Given the description of an element on the screen output the (x, y) to click on. 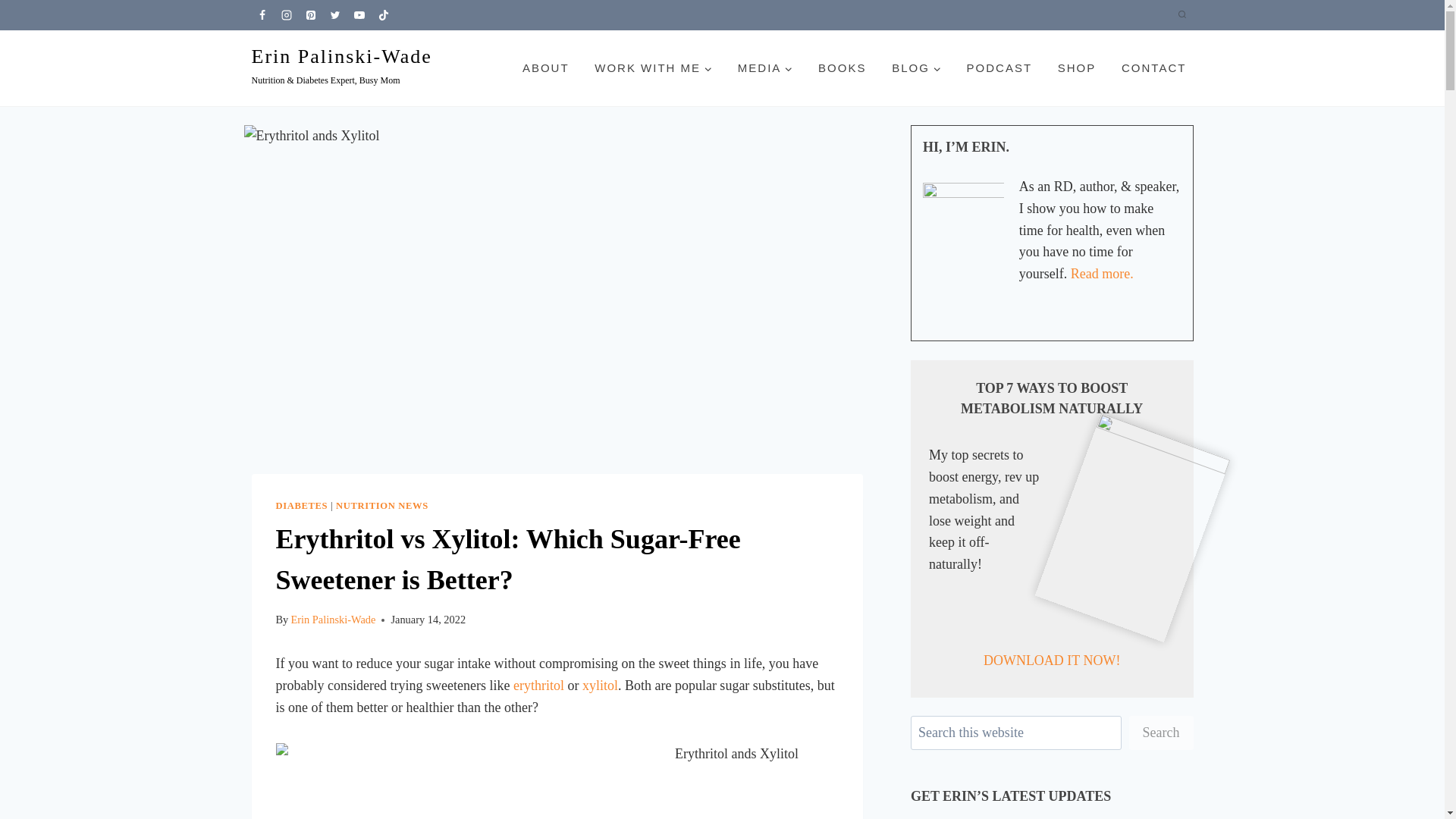
NUTRITION NEWS (382, 505)
WORK WITH ME (653, 68)
PODCAST (999, 68)
BLOG (916, 68)
ABOUT (545, 68)
SHOP (1077, 68)
xylitol (597, 685)
MEDIA (764, 68)
erythritol (538, 685)
Erin Palinski-Wade (332, 619)
BOOKS (841, 68)
CONTACT (1153, 68)
DIABETES (302, 505)
